Given the description of an element on the screen output the (x, y) to click on. 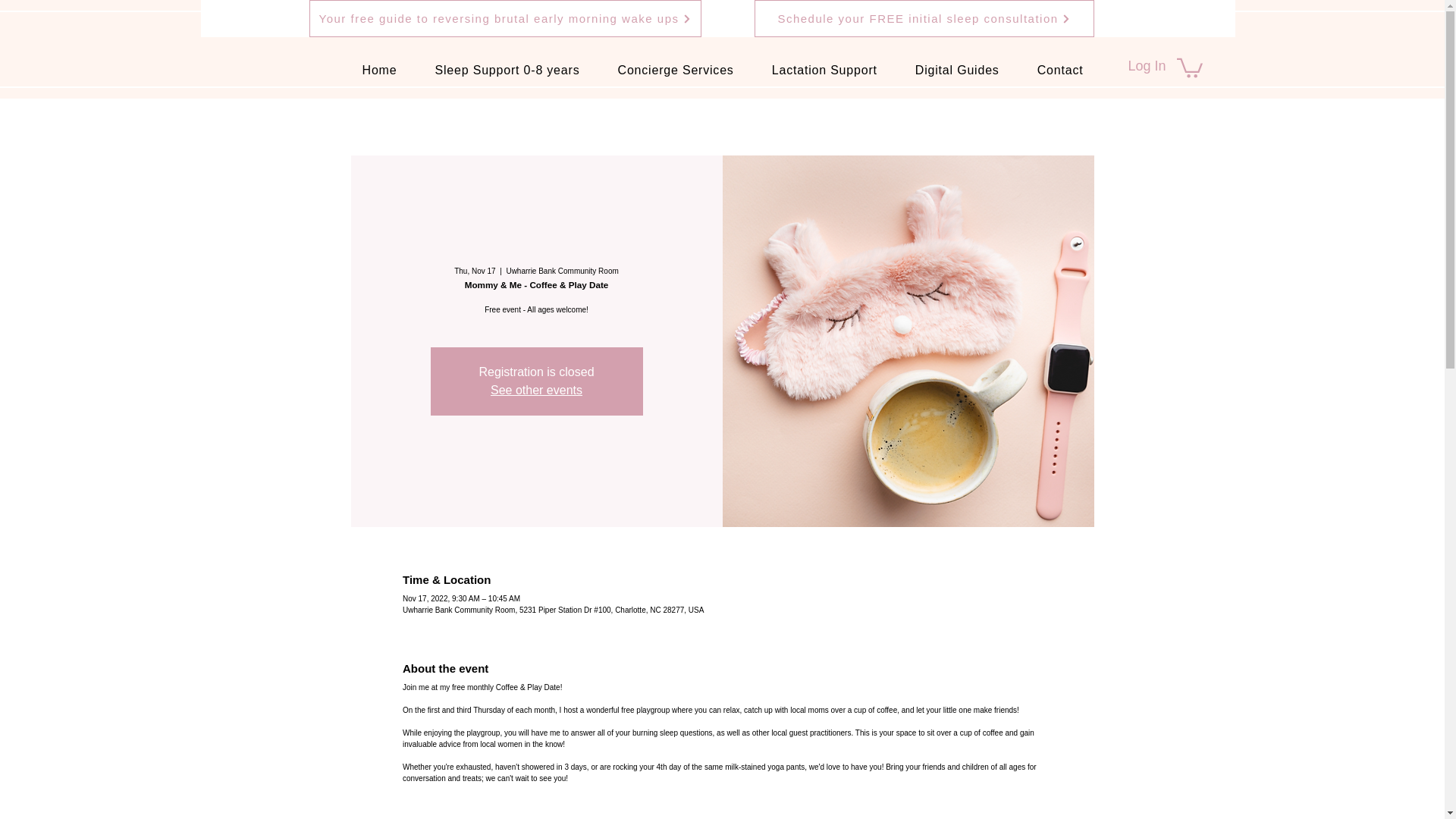
Concierge Services (675, 70)
Contact (1060, 70)
See other events (536, 390)
Digital Guides (956, 70)
Sleep Support 0-8 years (507, 70)
Schedule your FREE initial sleep consultation (923, 18)
Home (379, 70)
Log In (1146, 66)
Lactation Support (824, 70)
Your free guide to reversing brutal early morning wake ups (504, 18)
